Given the description of an element on the screen output the (x, y) to click on. 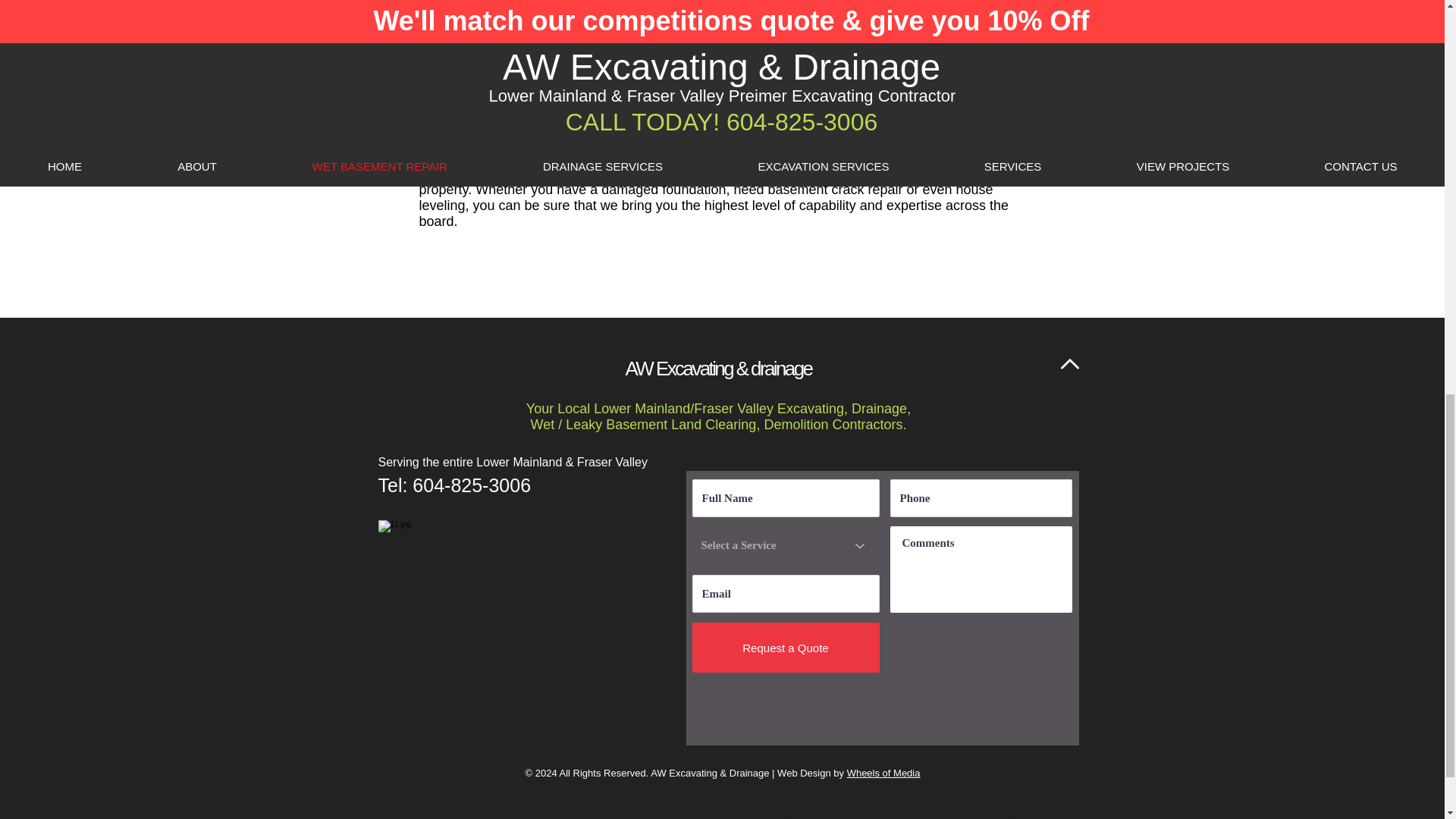
Abbotsford Land Clearing Contractor (914, 815)
Wheels of Media (883, 772)
Request a Quote (785, 647)
